Given the description of an element on the screen output the (x, y) to click on. 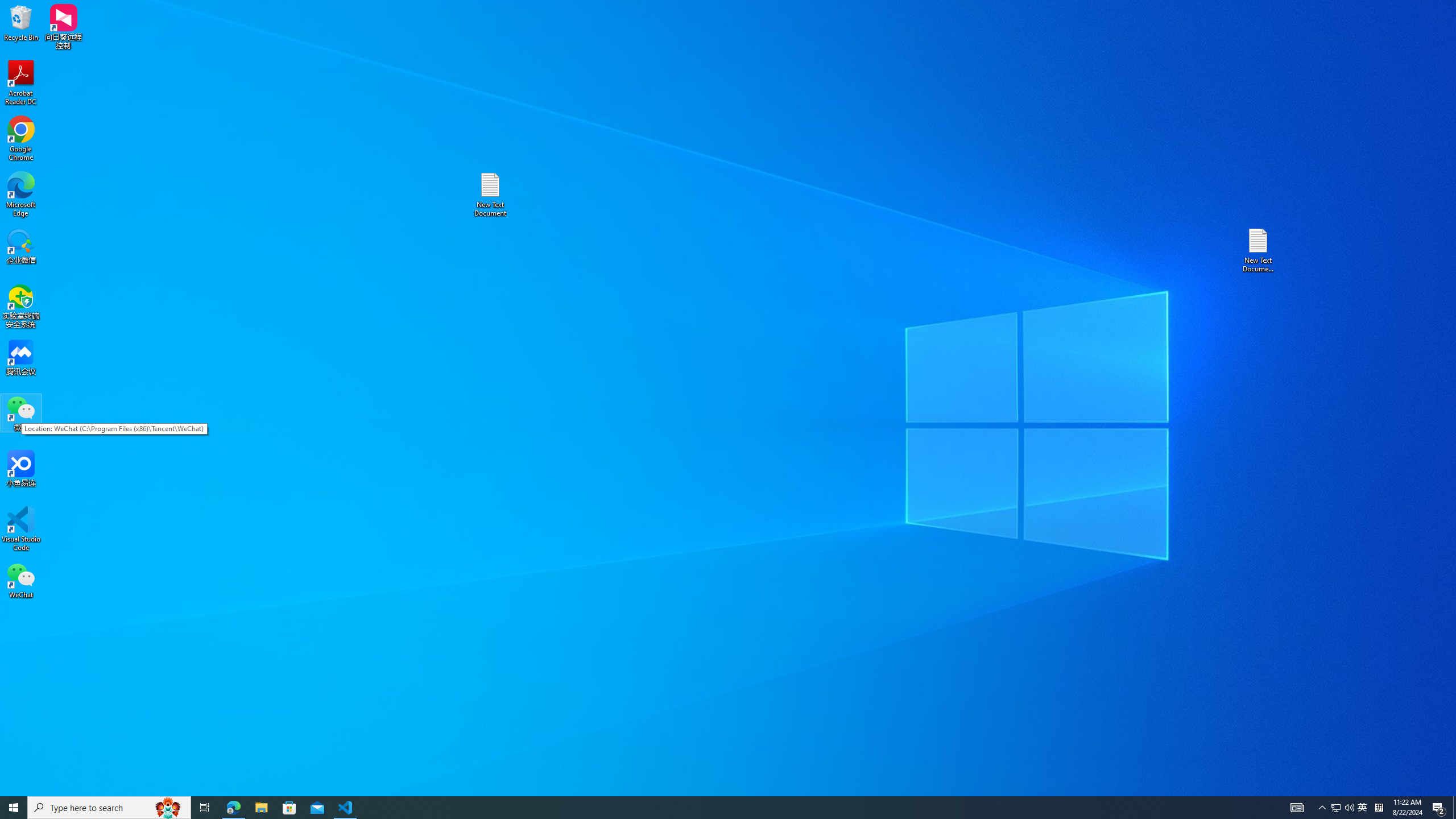
Search highlights icon opens search home window (1335, 807)
File Explorer (167, 807)
New Text Document (261, 807)
Acrobat Reader DC (489, 194)
Visual Studio Code (21, 82)
Microsoft Store (21, 528)
Microsoft Edge - 1 running window (289, 807)
Recycle Bin (233, 807)
Task View (21, 22)
Running applications (204, 807)
AutomationID: 4105 (707, 807)
